Given the description of an element on the screen output the (x, y) to click on. 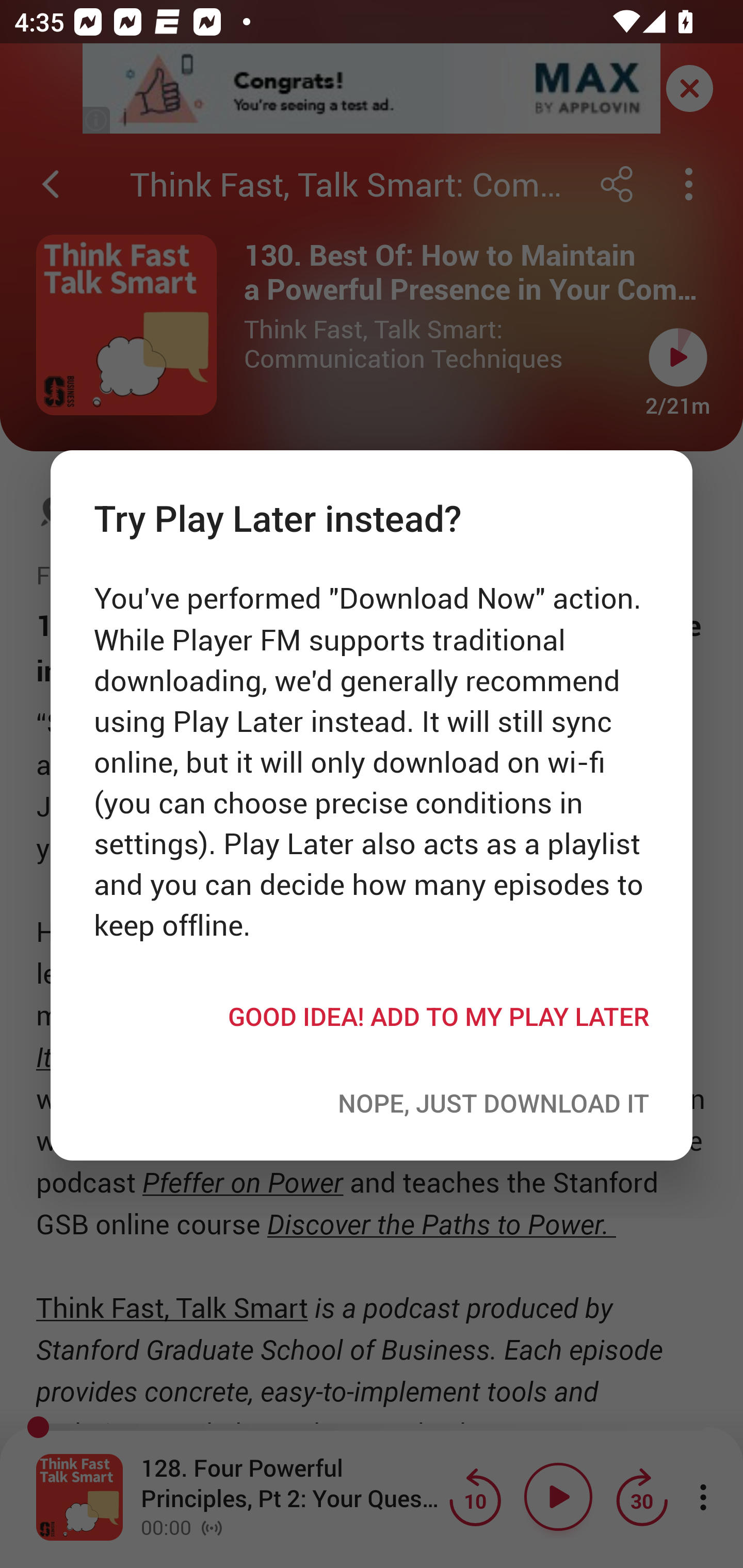
GOOD IDEA! ADD TO MY PLAY LATER (371, 1015)
NOPE, JUST DOWNLOAD IT (371, 1102)
